Given the description of an element on the screen output the (x, y) to click on. 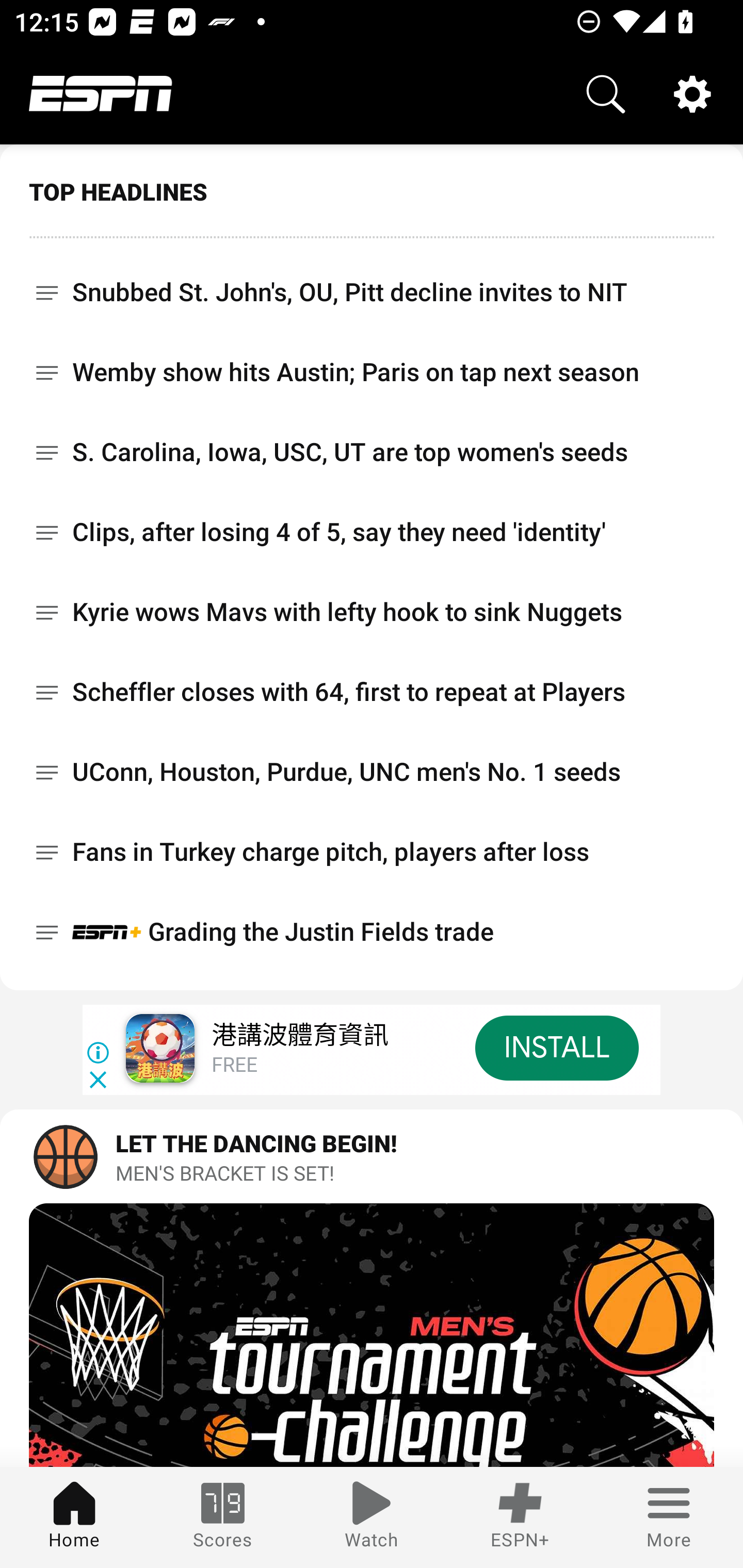
Search (605, 93)
Settings (692, 93)
 Wemby show hits Austin; Paris on tap next season (371, 372)
 S. Carolina, Iowa, USC, UT are top women's seeds (371, 452)
 Kyrie wows Mavs with lefty hook to sink Nuggets (371, 612)
 UConn, Houston, Purdue, UNC men's No. 1 seeds (371, 772)
 Fans in Turkey charge pitch, players after loss (371, 852)
INSTALL (556, 1048)
港講波體育資訊 (299, 1036)
FREE (234, 1065)
Scores (222, 1517)
Watch (371, 1517)
ESPN+ (519, 1517)
More (668, 1517)
